Given the description of an element on the screen output the (x, y) to click on. 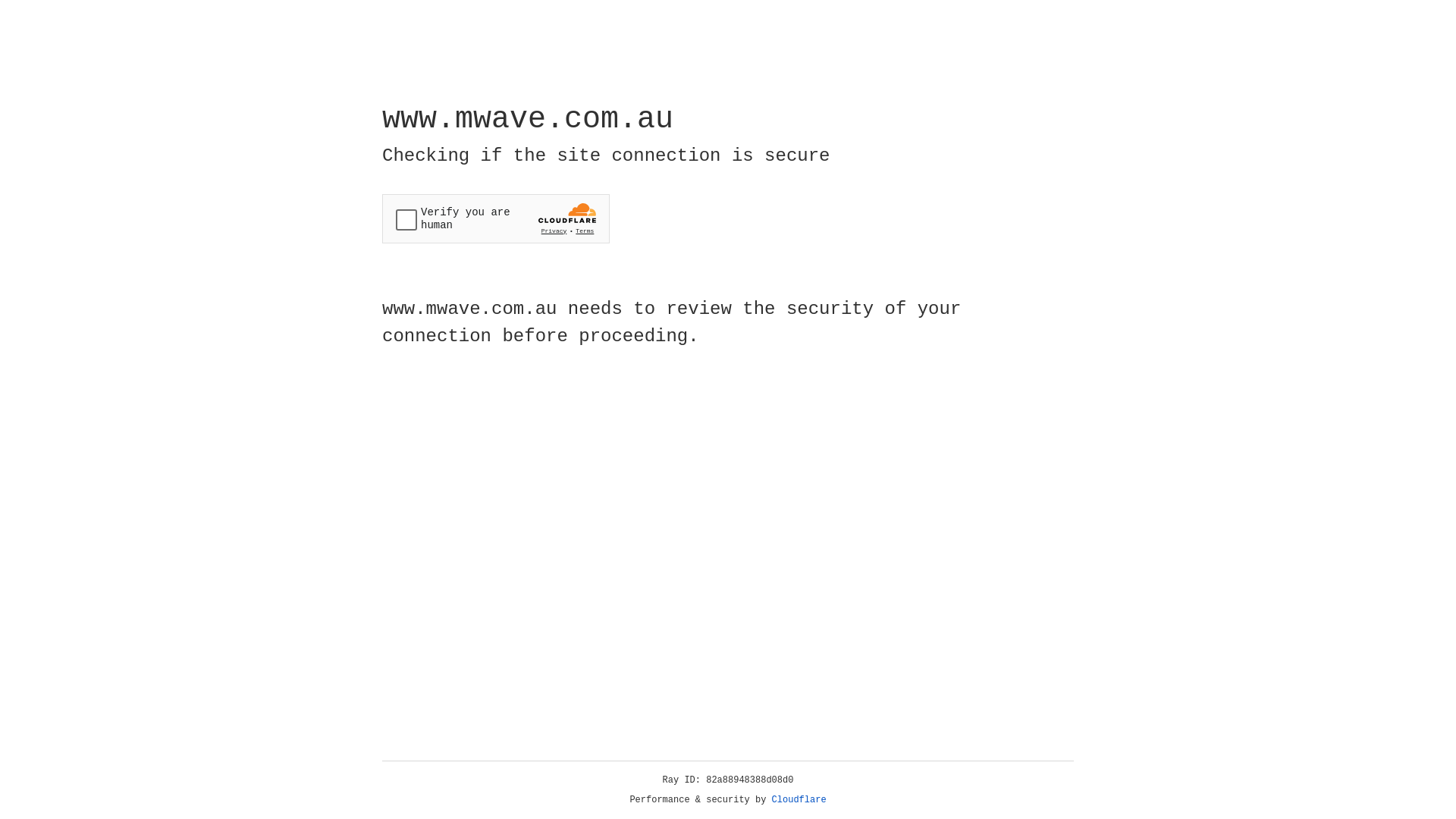
Widget containing a Cloudflare security challenge Element type: hover (495, 218)
Cloudflare Element type: text (798, 799)
